Given the description of an element on the screen output the (x, y) to click on. 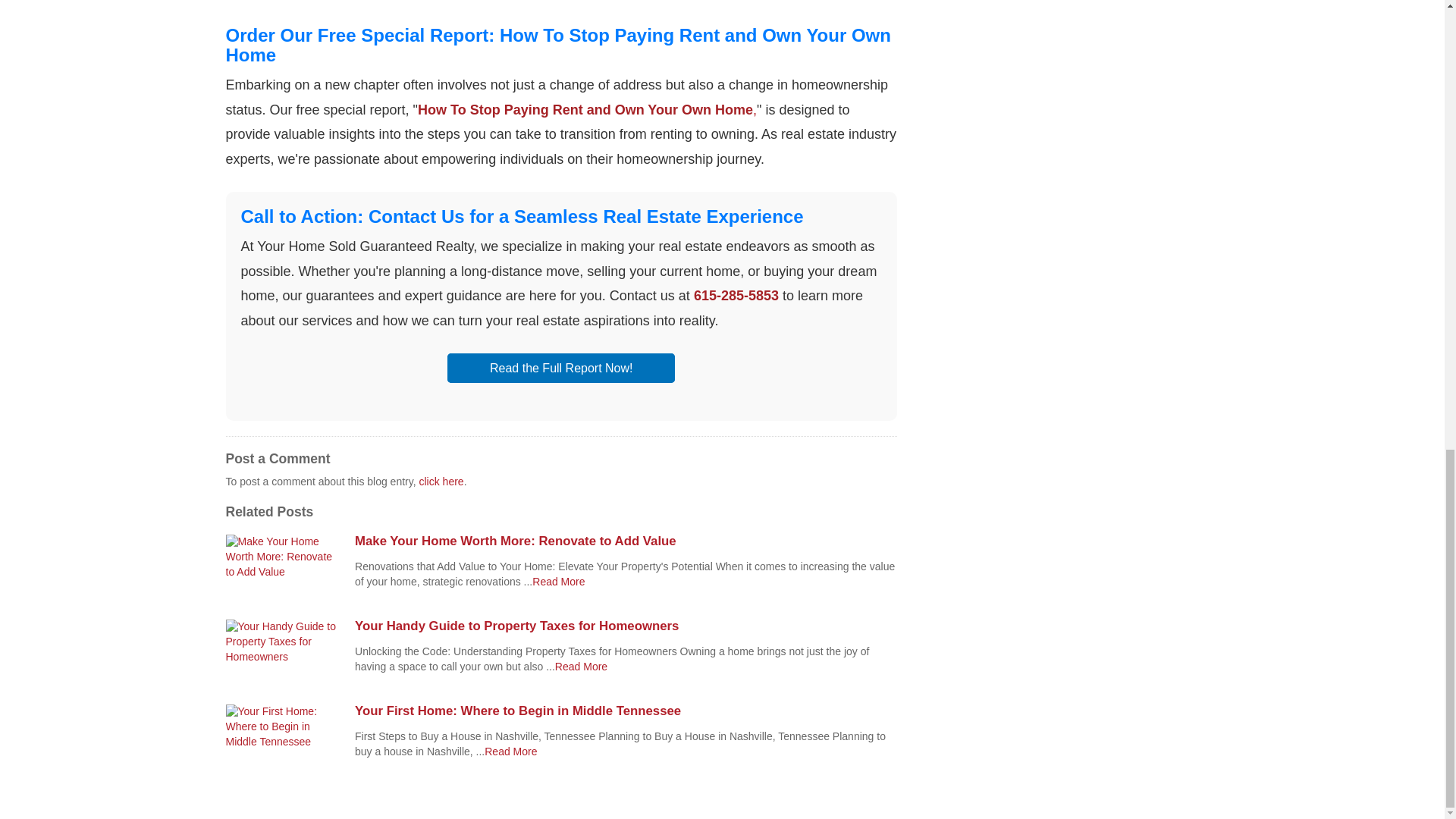
Making a Long-Distance Move: What You Need to Know (580, 666)
Your Handy Guide to Property Taxes for Homeowners (625, 626)
Make Your Home Worth More: Renovate to Add Value (625, 540)
Making a Long-Distance Move: What You Need to Know (558, 581)
Your First Home: Where to Begin in Middle Tennessee (625, 711)
Making a Long-Distance Move: What You Need to Know (510, 751)
